Given the description of an element on the screen output the (x, y) to click on. 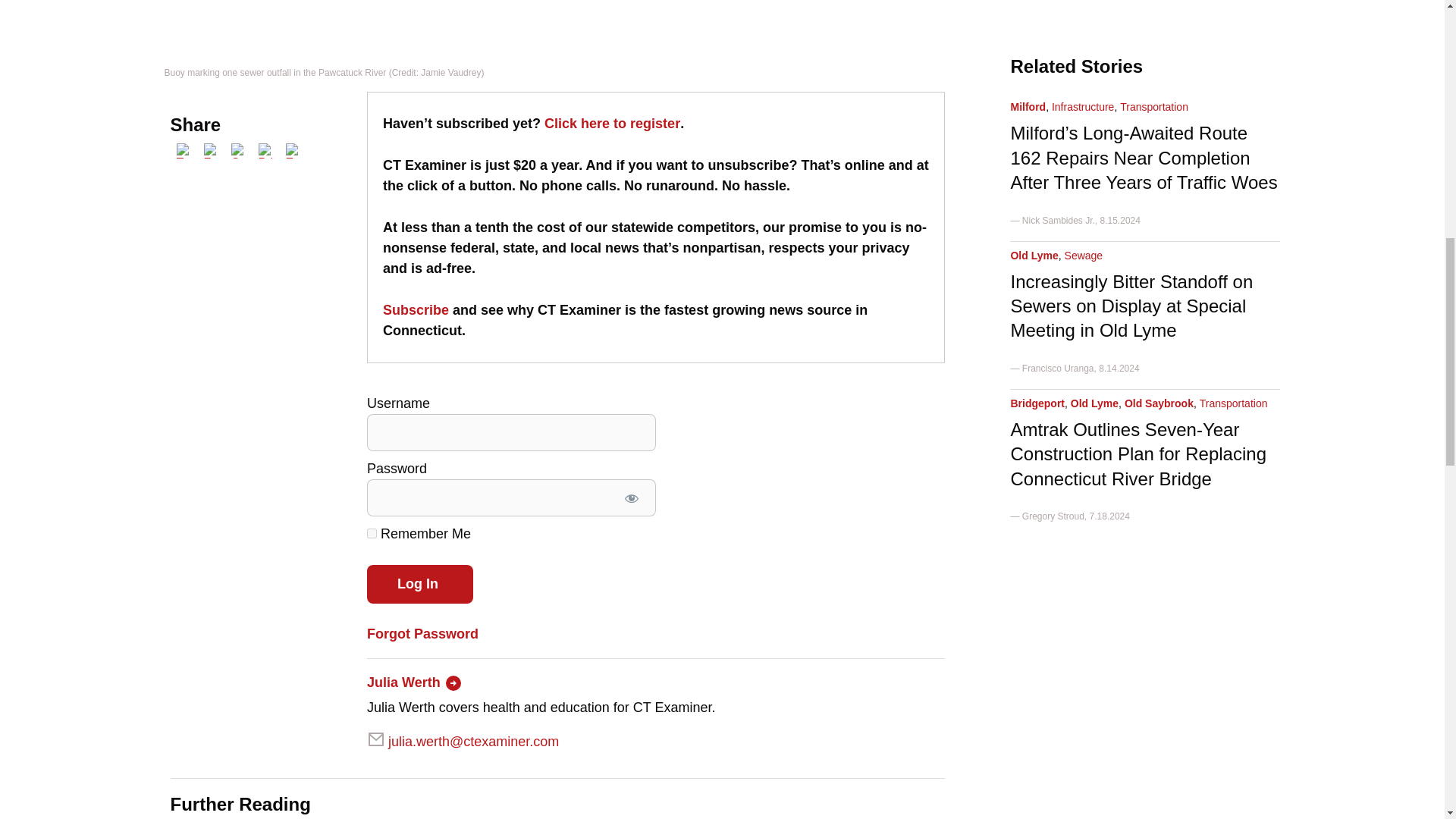
Click here to register (611, 123)
forever (371, 533)
Log In (419, 584)
